Given the description of an element on the screen output the (x, y) to click on. 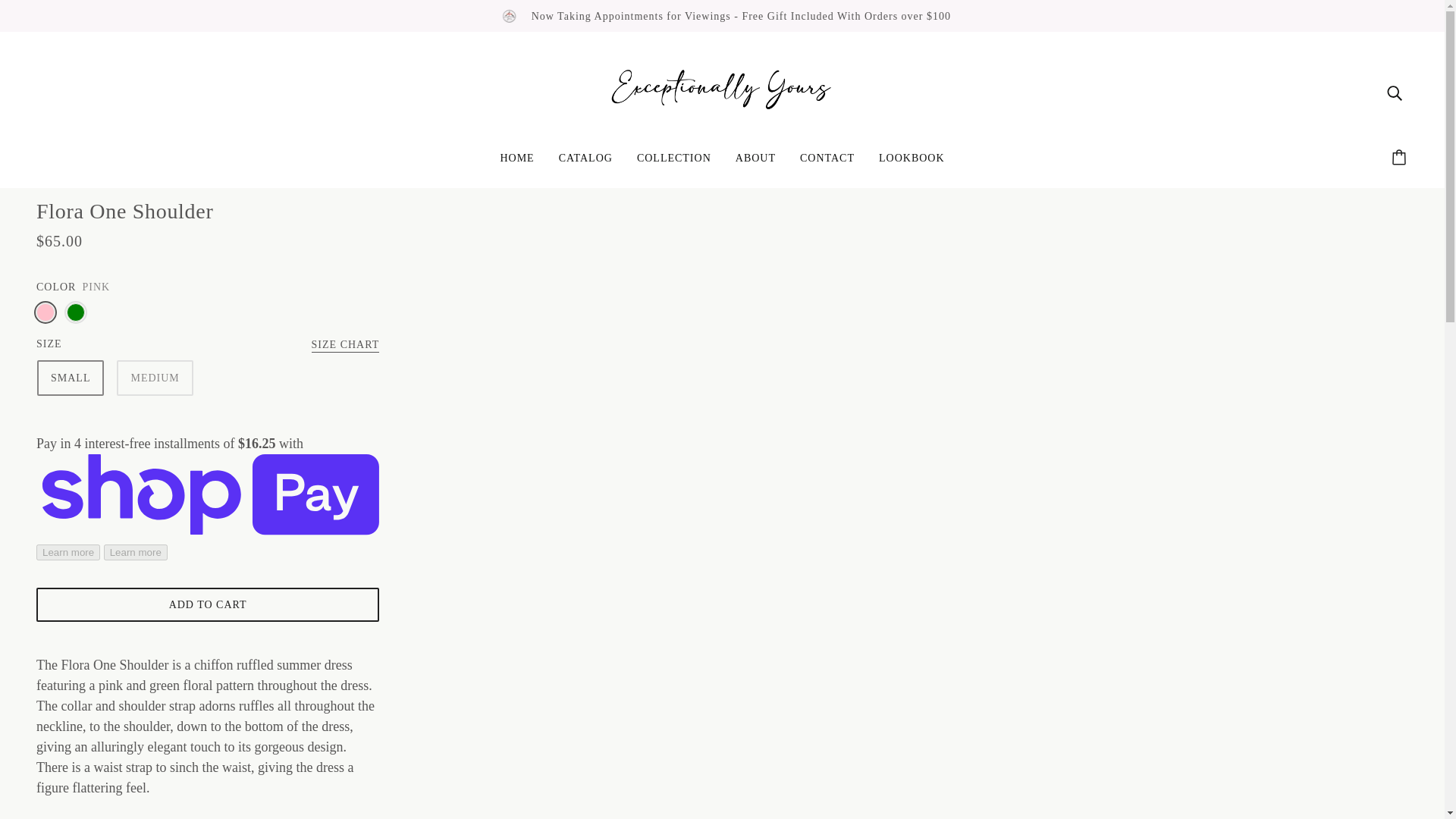
HOME (516, 164)
CATALOG (585, 164)
SIZE CHART (345, 345)
COLLECTION (673, 164)
Exceptionally Yours (722, 90)
ABOUT (755, 164)
LOOKBOOK (911, 164)
ADD TO CART (207, 604)
CONTACT (826, 164)
